Given the description of an element on the screen output the (x, y) to click on. 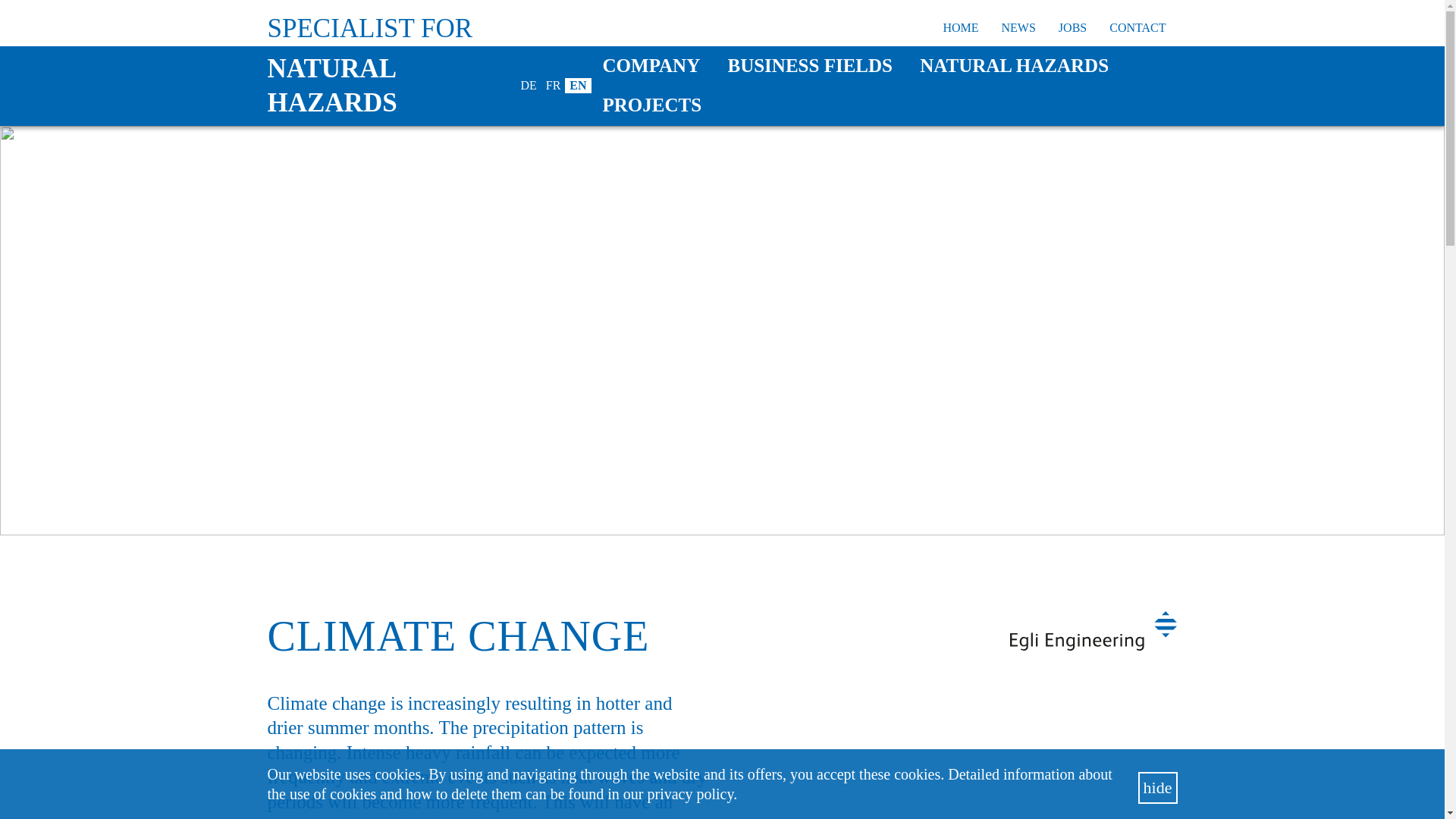
Specialist for natural hazards (379, 85)
Company (651, 65)
Startseite (960, 28)
Contact (1136, 28)
BUSINESS FIELDS (809, 65)
HOME (960, 28)
Changement climatique (553, 85)
NATURAL HAZARDS (379, 85)
CONTACT (1136, 28)
FR (553, 85)
